Given the description of an element on the screen output the (x, y) to click on. 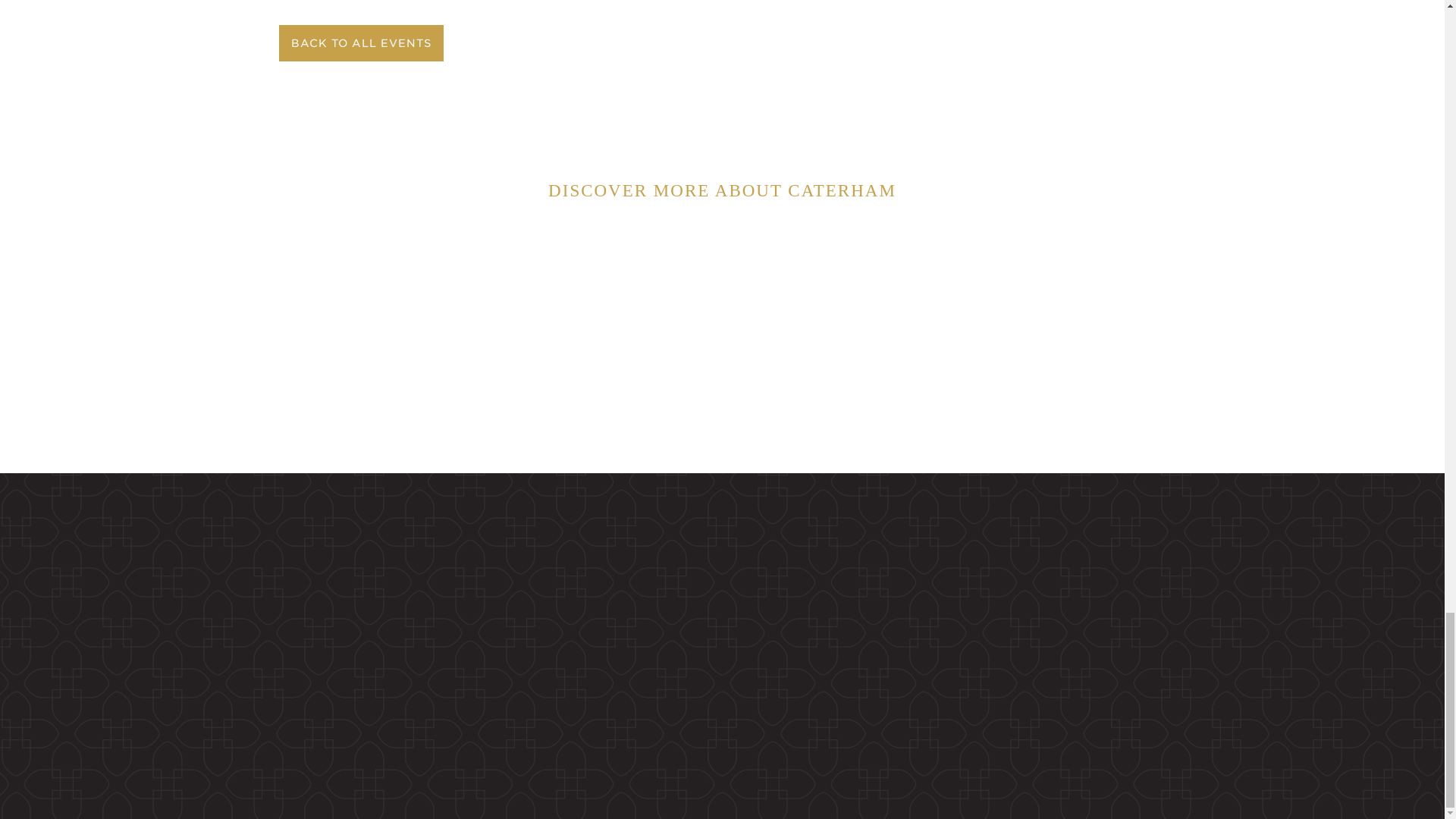
BACK TO ALL EVENTS (360, 43)
